Given the description of an element on the screen output the (x, y) to click on. 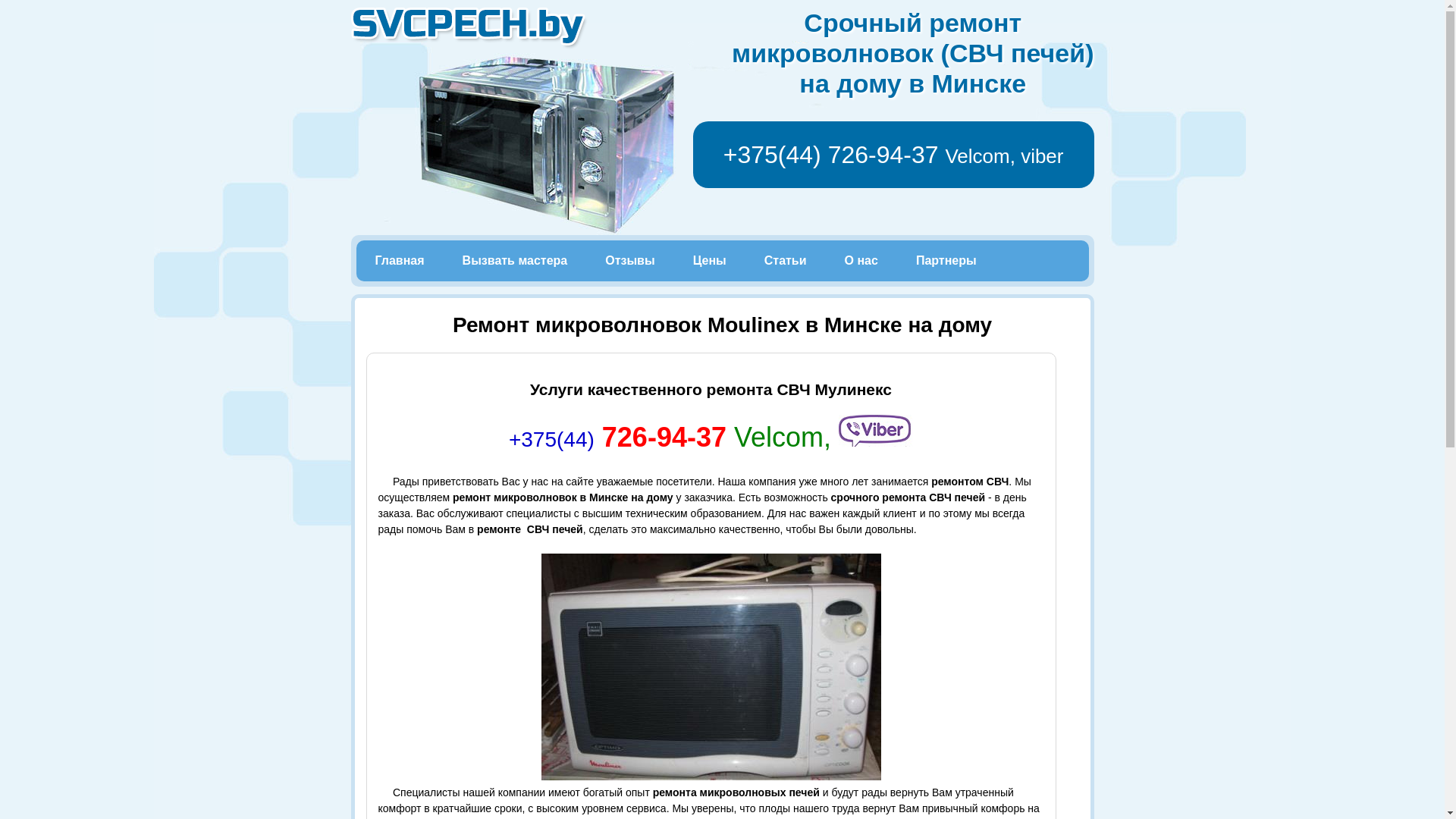
+375(44) 726-94-37 Element type: text (830, 154)
